Given the description of an element on the screen output the (x, y) to click on. 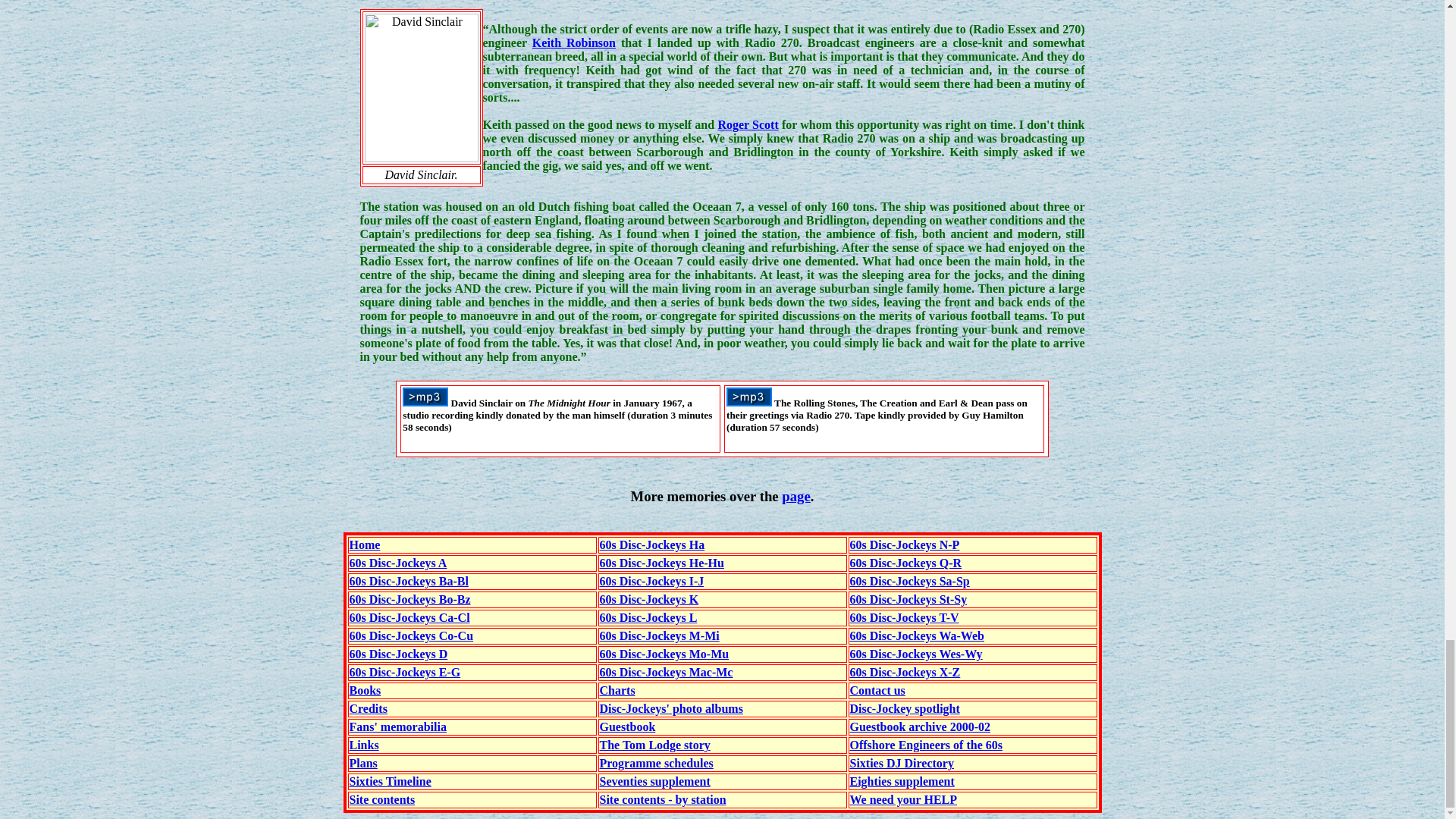
60s Disc-Jockeys Ha (651, 544)
Home (364, 544)
60s Disc-Jockeys Q-R (904, 562)
60s Disc-Jockeys N-P (903, 544)
60s Disc-Jockeys Ba-Bl (408, 581)
page (795, 496)
60s Disc-Jockeys K (648, 599)
60s Disc-Jockeys Sa-Sp (908, 581)
60s Disc-Jockeys He-Hu (660, 562)
60s Disc-Jockeys I-J (650, 581)
